Given the description of an element on the screen output the (x, y) to click on. 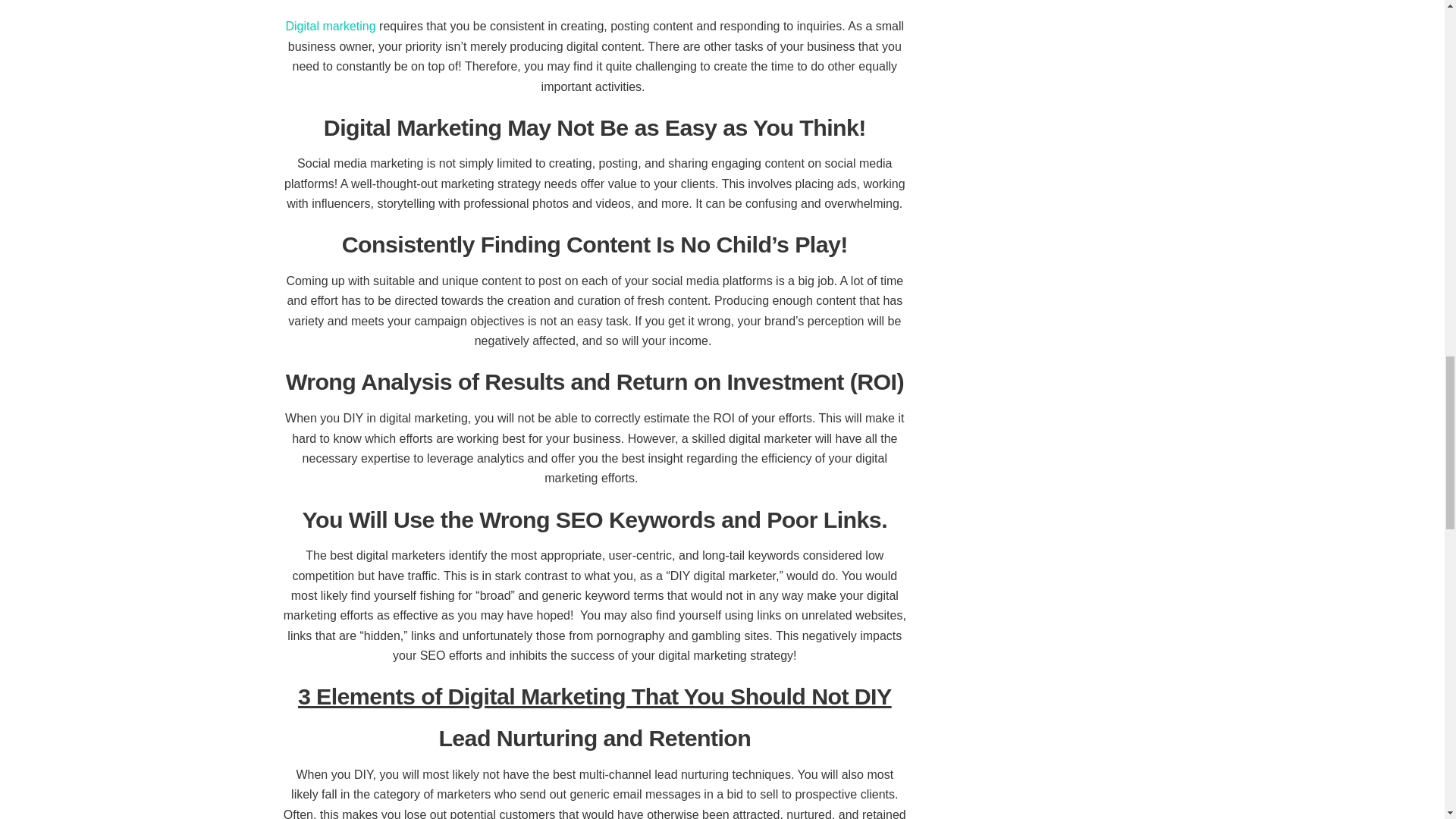
Digital marketing (330, 25)
